Given the description of an element on the screen output the (x, y) to click on. 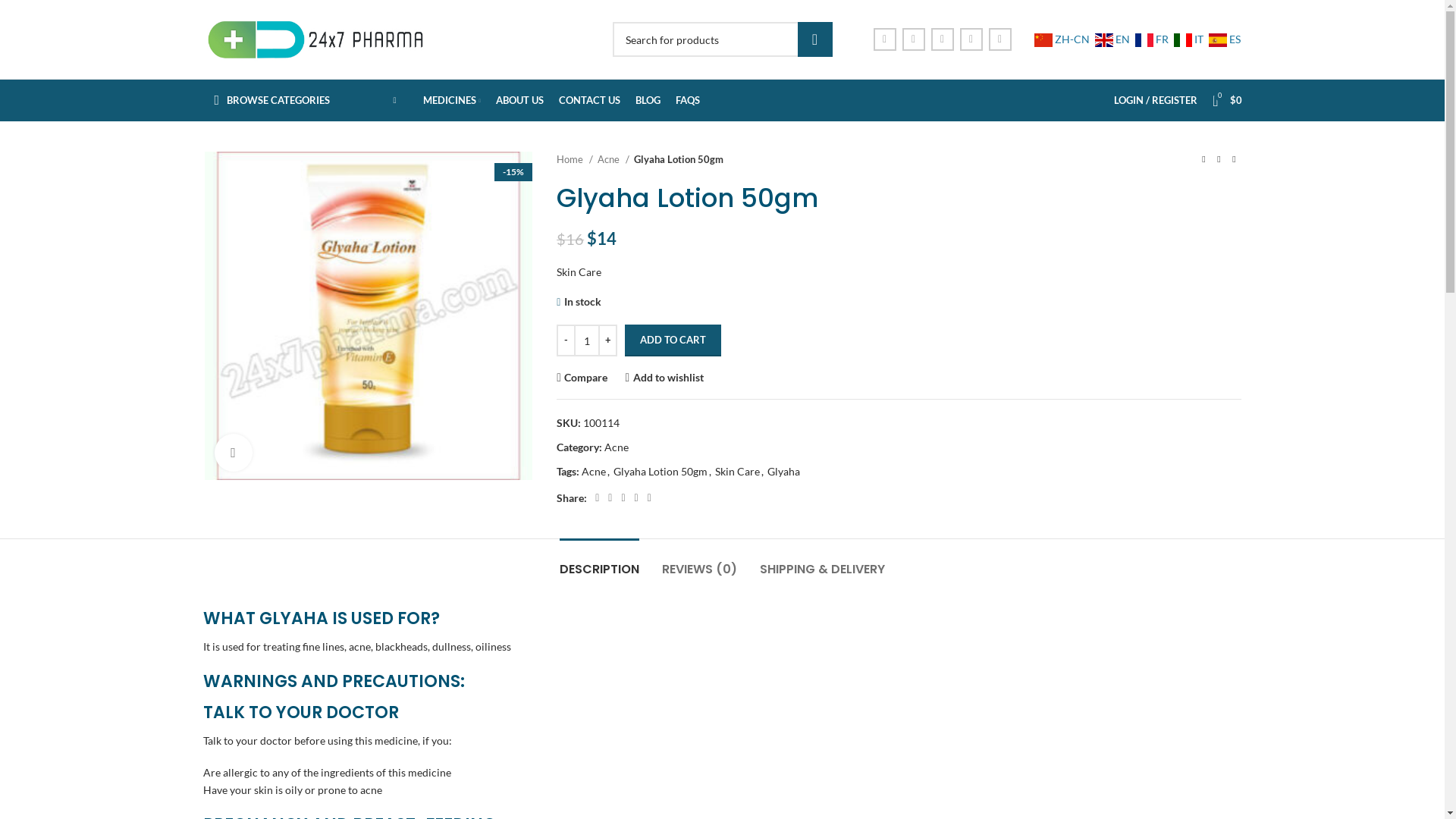
SHIPPING & DELIVERY Element type: text (821, 561)
Glyaha Element type: text (783, 470)
FAQS Element type: text (687, 99)
Search for products Element type: hover (722, 38)
Acne Element type: text (593, 470)
ZH-CN Element type: text (1061, 38)
FR Element type: text (1150, 38)
ES Element type: text (1224, 38)
Skin Care Element type: text (737, 470)
Glyaha Lotion 50gm Element type: text (660, 470)
Glyaha Lotion 50gm Element type: hover (368, 315)
DESCRIPTION Element type: text (599, 561)
IT Element type: text (1188, 38)
Acne Element type: text (616, 446)
0
$0 Element type: text (1226, 99)
MEDICINES Element type: text (451, 99)
CONTACT US Element type: text (589, 99)
EN Element type: text (1112, 38)
ADD TO CART Element type: text (672, 340)
Acne Element type: text (613, 159)
BLOG Element type: text (647, 99)
Qty Element type: hover (586, 340)
ABOUT US Element type: text (519, 99)
Compare Element type: text (581, 376)
LOGIN / REGISTER Element type: text (1155, 99)
REVIEWS (0) Element type: text (699, 561)
Home Element type: text (574, 159)
Log in Element type: text (1072, 335)
SEARCH Element type: text (814, 38)
Add to wishlist Element type: text (663, 376)
